Given the description of an element on the screen output the (x, y) to click on. 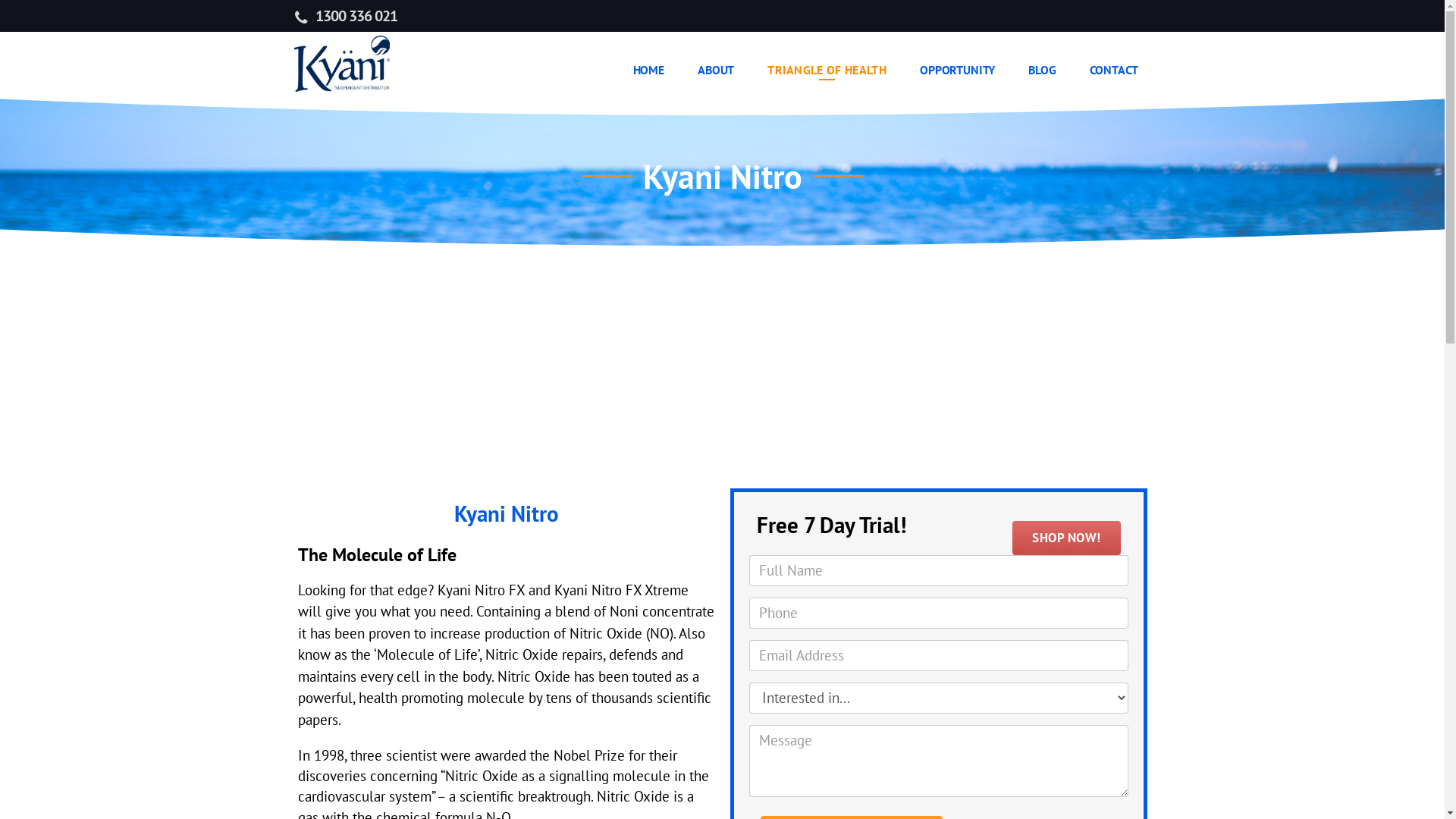
BLOG Element type: text (1041, 70)
HOME Element type: text (648, 70)
SHOP NOW! Element type: text (1066, 537)
Health Wellness Kyani Dist Element type: hover (342, 64)
OPPORTUNITY Element type: text (956, 70)
1300 336 021 Element type: text (356, 15)
ABOUT Element type: text (715, 70)
CONTACT Element type: text (1113, 70)
TRIANGLE OF HEALTH Element type: text (826, 70)
